Given the description of an element on the screen output the (x, y) to click on. 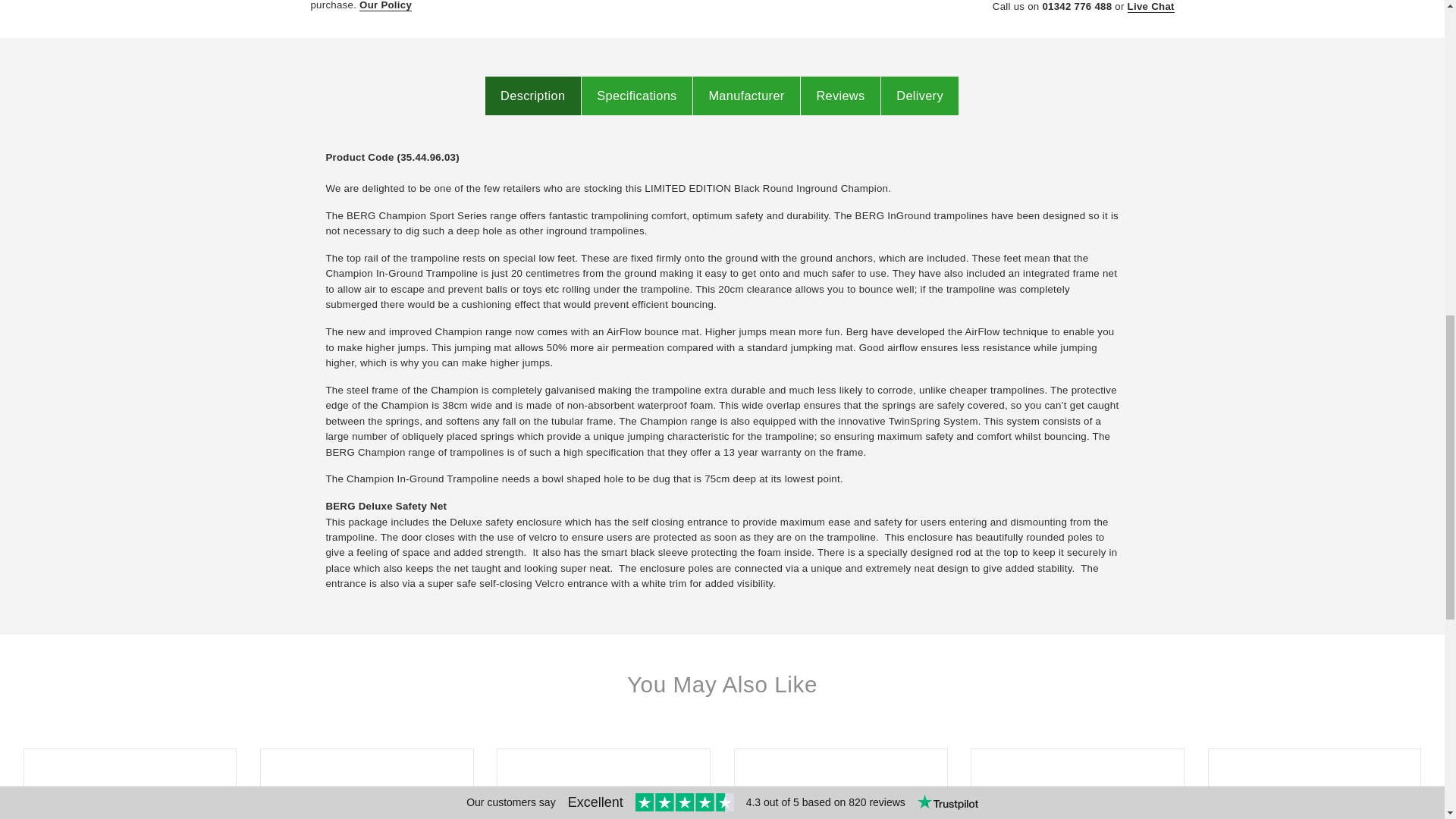
Our Policy (385, 5)
14ft x 10ft Akrobat Primus Flat Rectangular Trampoline (366, 798)
